Given the description of an element on the screen output the (x, y) to click on. 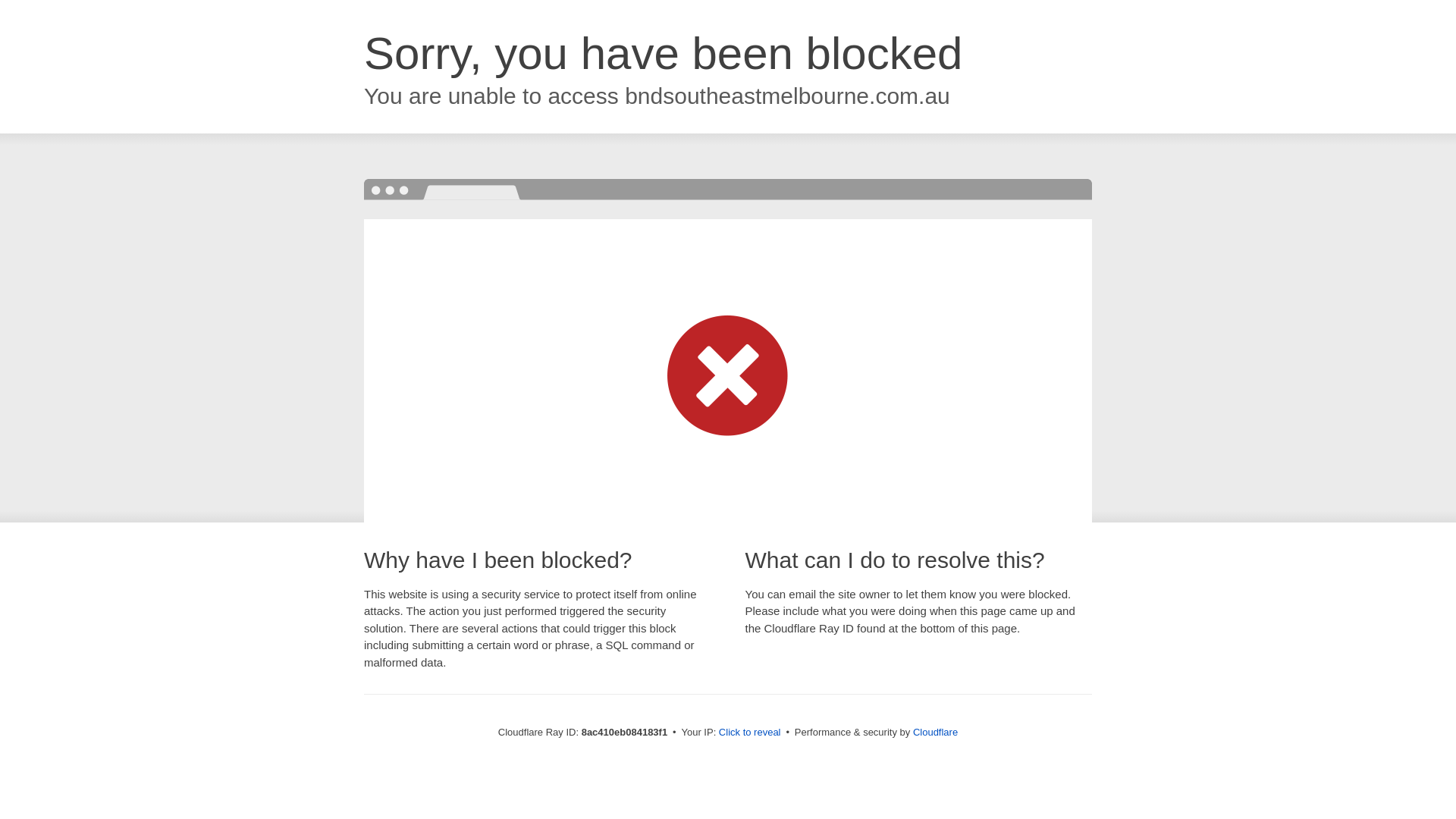
Cloudflare (935, 731)
Click to reveal (749, 732)
